Given the description of an element on the screen output the (x, y) to click on. 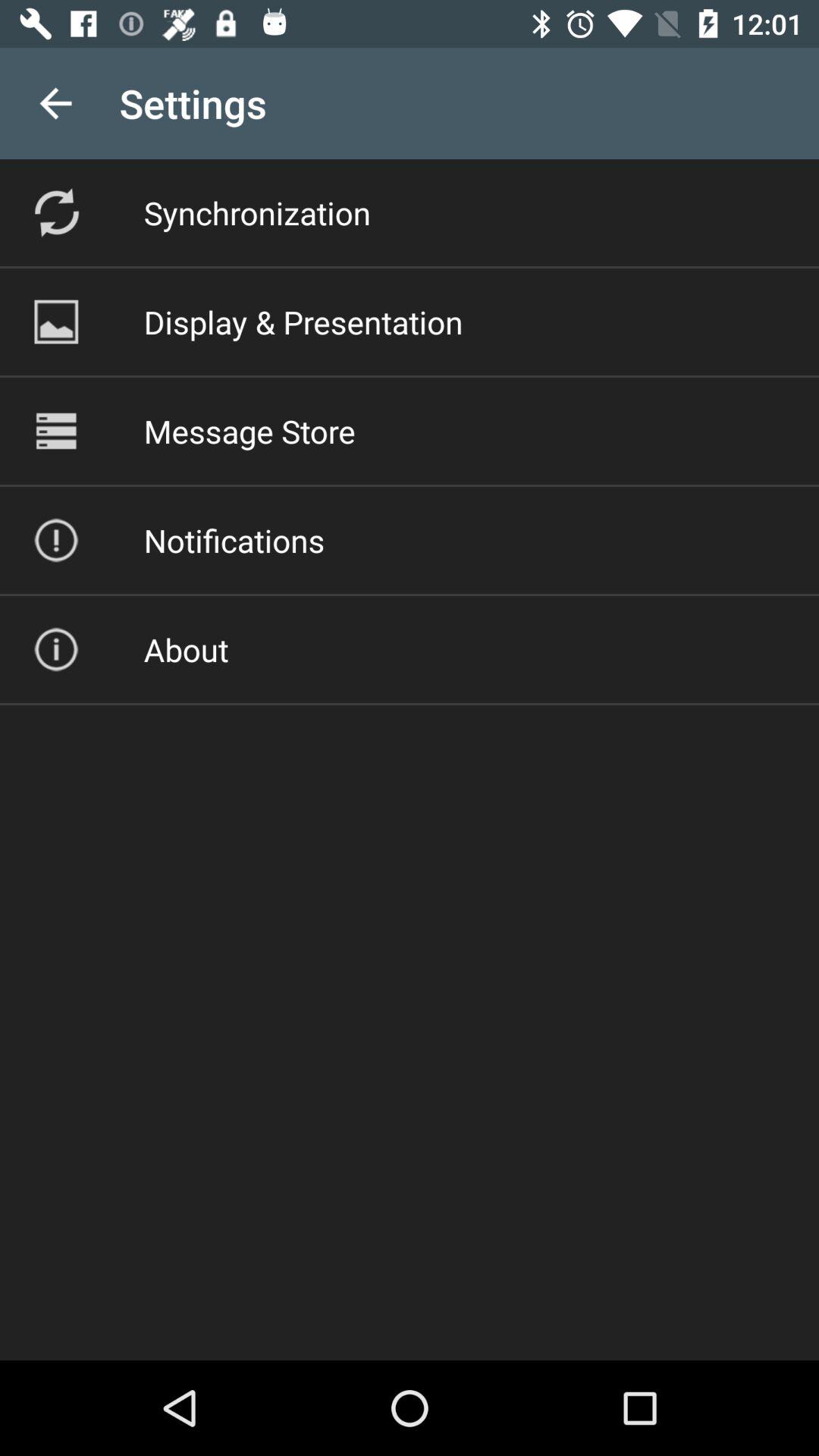
launch icon above the message store icon (302, 321)
